Given the description of an element on the screen output the (x, y) to click on. 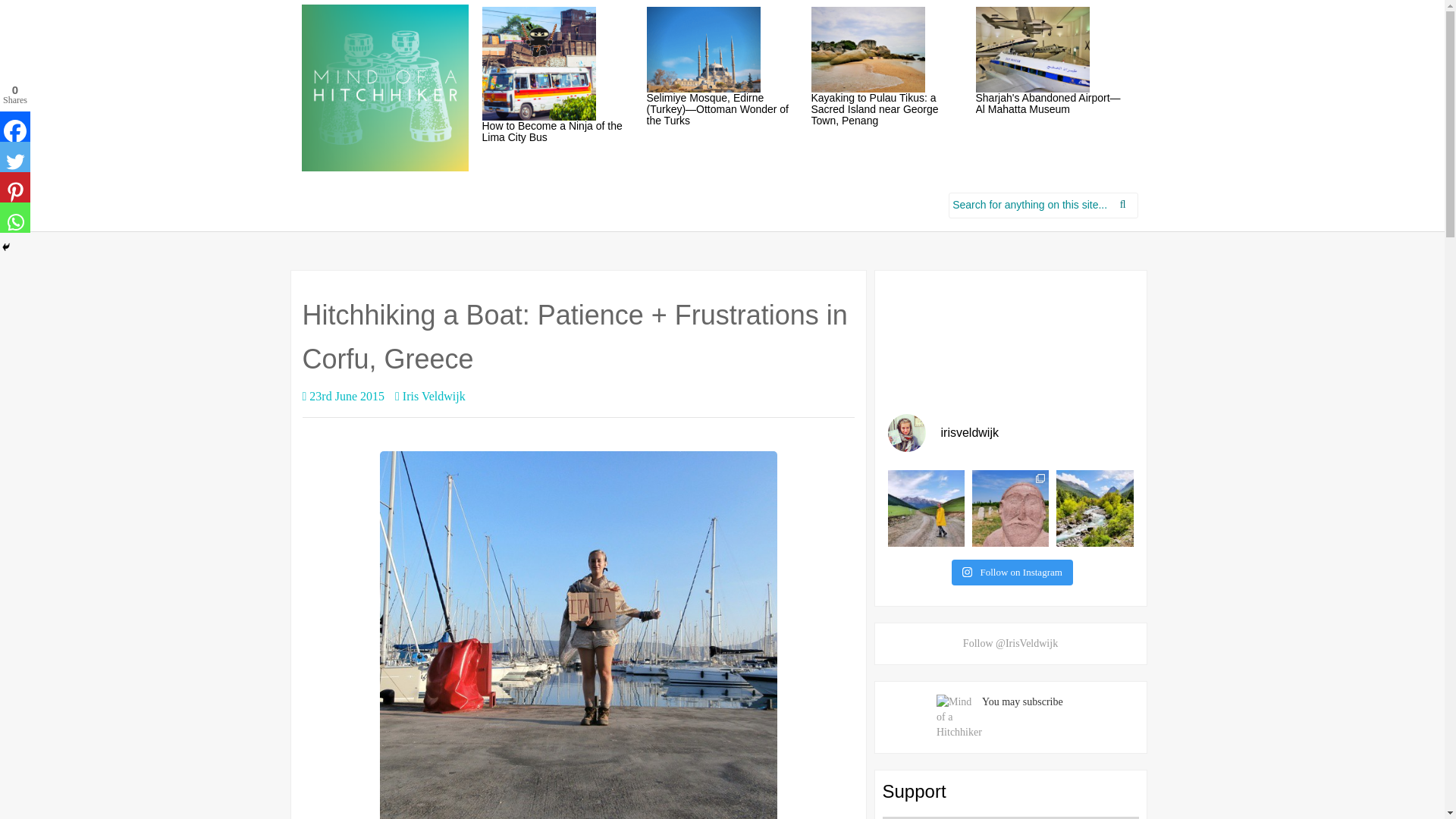
Mind of a Hitchhiker (384, 86)
Mind of a Hitchhiker (384, 87)
How to Become a Ninja of the Lima City Bus (538, 63)
How to Become a Ninja of the Lima City Bus (552, 131)
Sharjah (1032, 49)
